Given the description of an element on the screen output the (x, y) to click on. 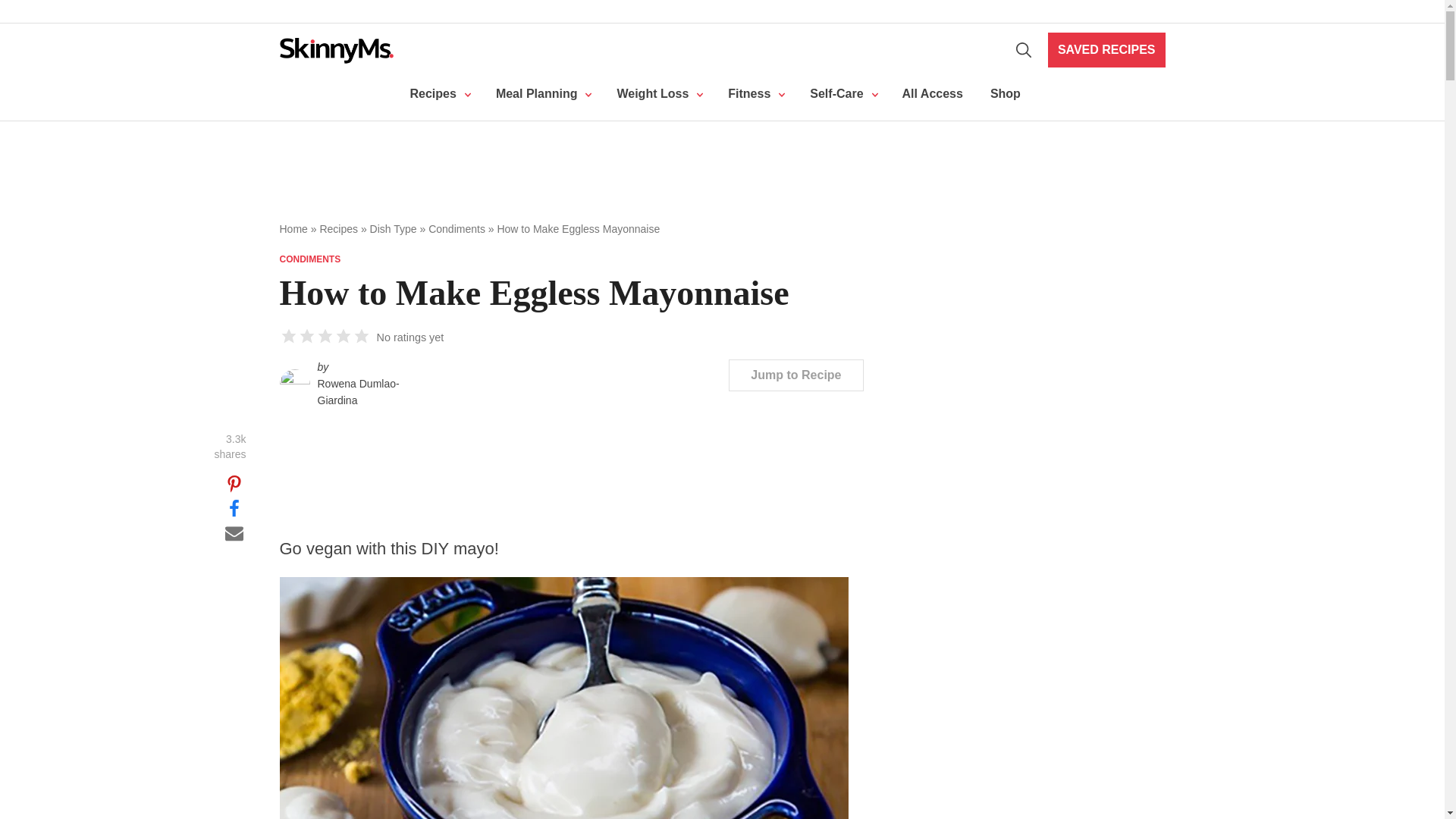
Share on Facebook (233, 507)
Skinny Ms. (336, 49)
Search (1023, 49)
Share via Email (233, 531)
Recipes (438, 94)
Weight Loss Recipes And Menus (541, 94)
Share on Pinterest (233, 482)
SAVED RECIPES (1107, 49)
